Given the description of an element on the screen output the (x, y) to click on. 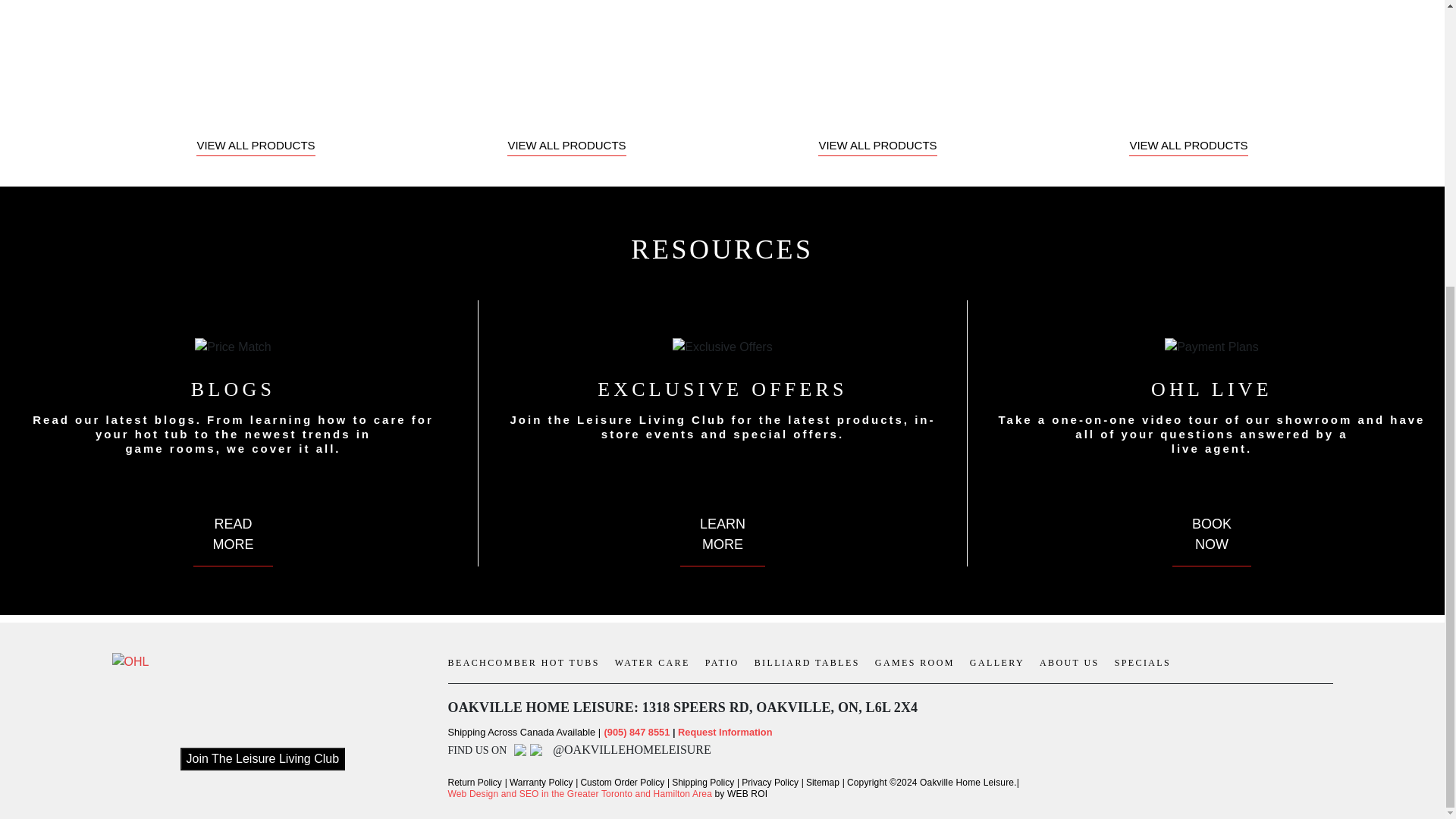
Web Design and SEO by WEB ROI (578, 793)
